Given the description of an element on the screen output the (x, y) to click on. 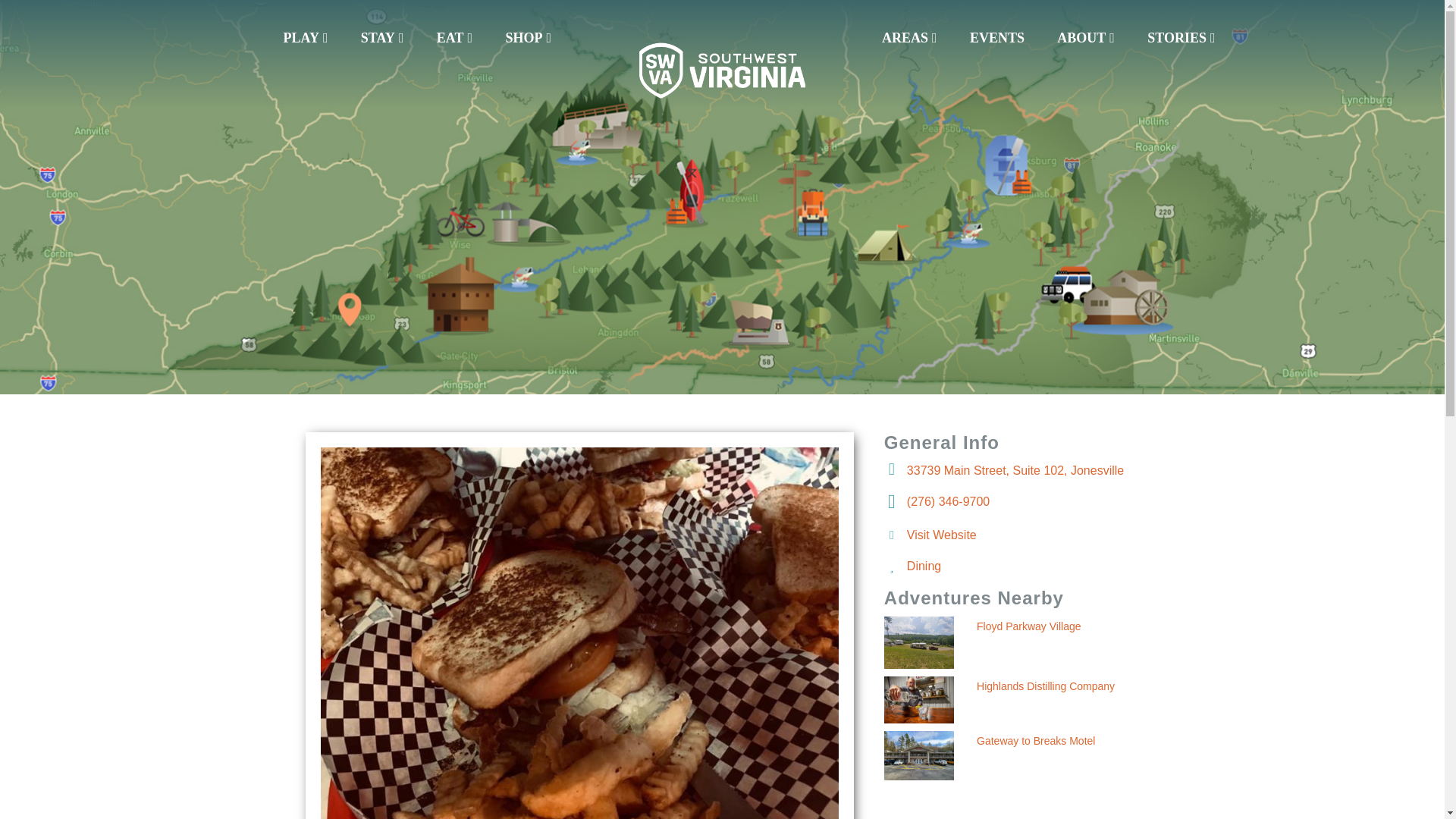
STAY (382, 38)
SHOP (527, 38)
PLAY (305, 38)
